Given the description of an element on the screen output the (x, y) to click on. 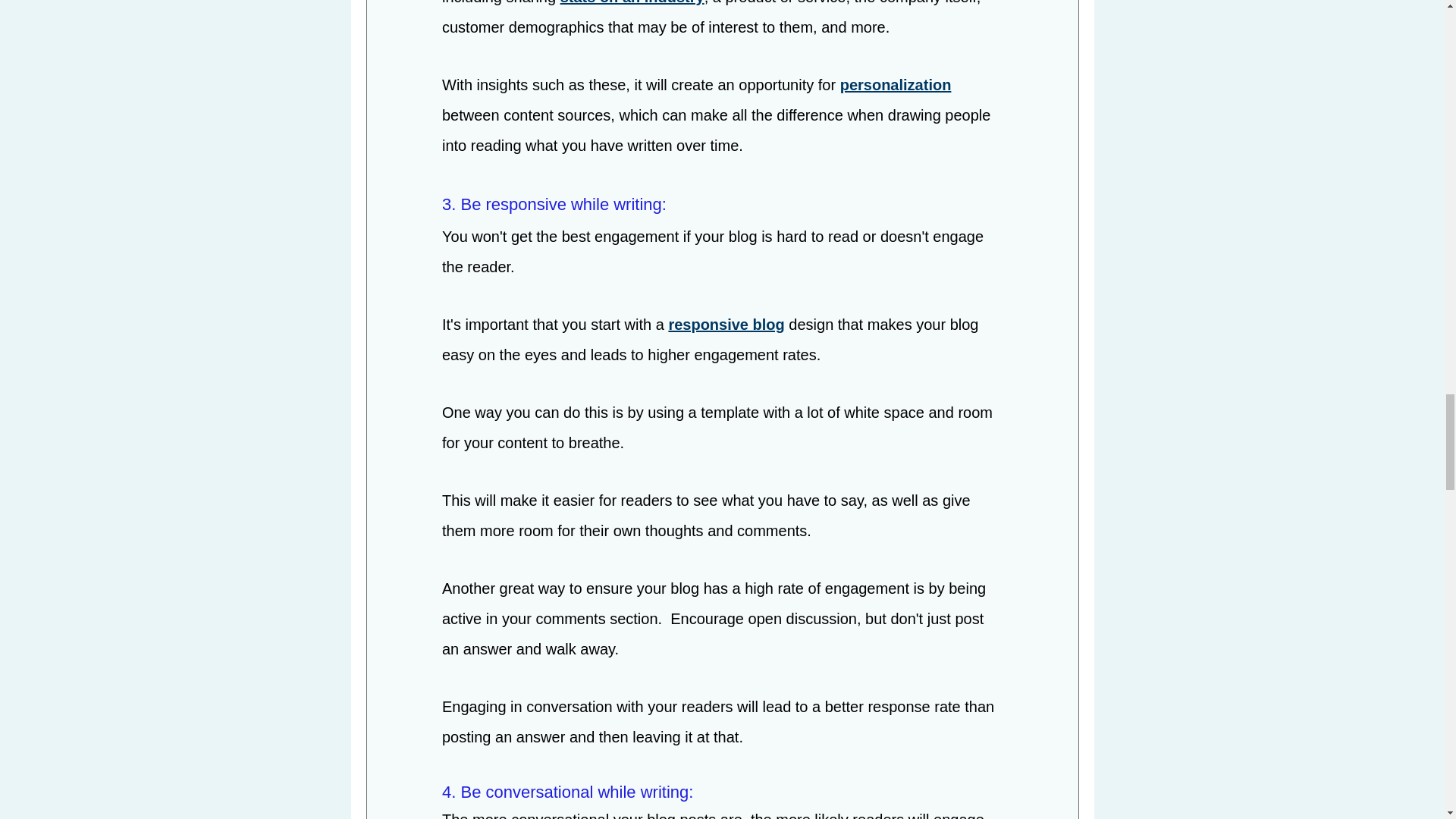
personalization (895, 86)
stats on an industry (631, 2)
responsive blog (726, 325)
